Given the description of an element on the screen output the (x, y) to click on. 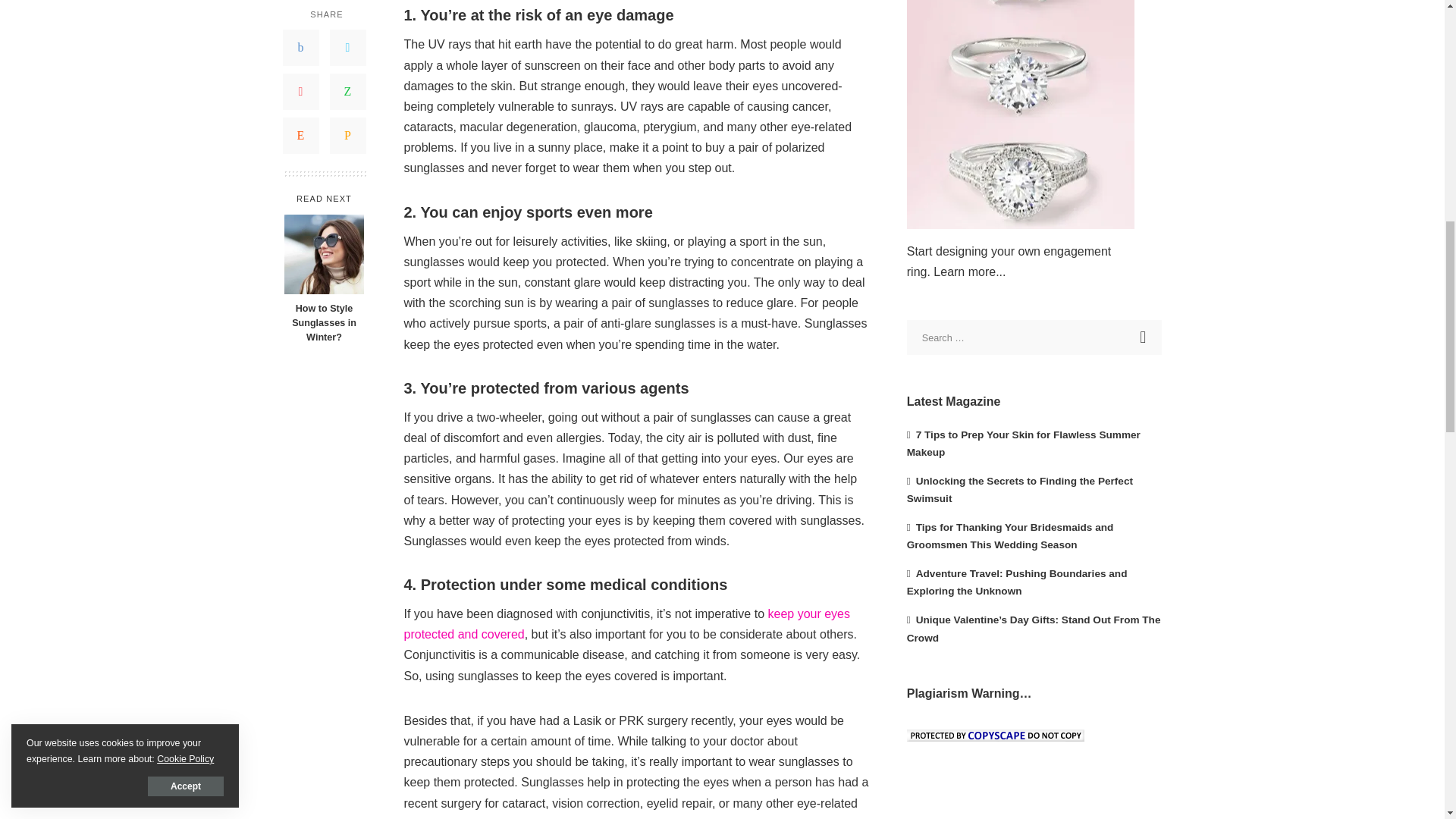
Search (1143, 337)
Search (1143, 337)
